Given the description of an element on the screen output the (x, y) to click on. 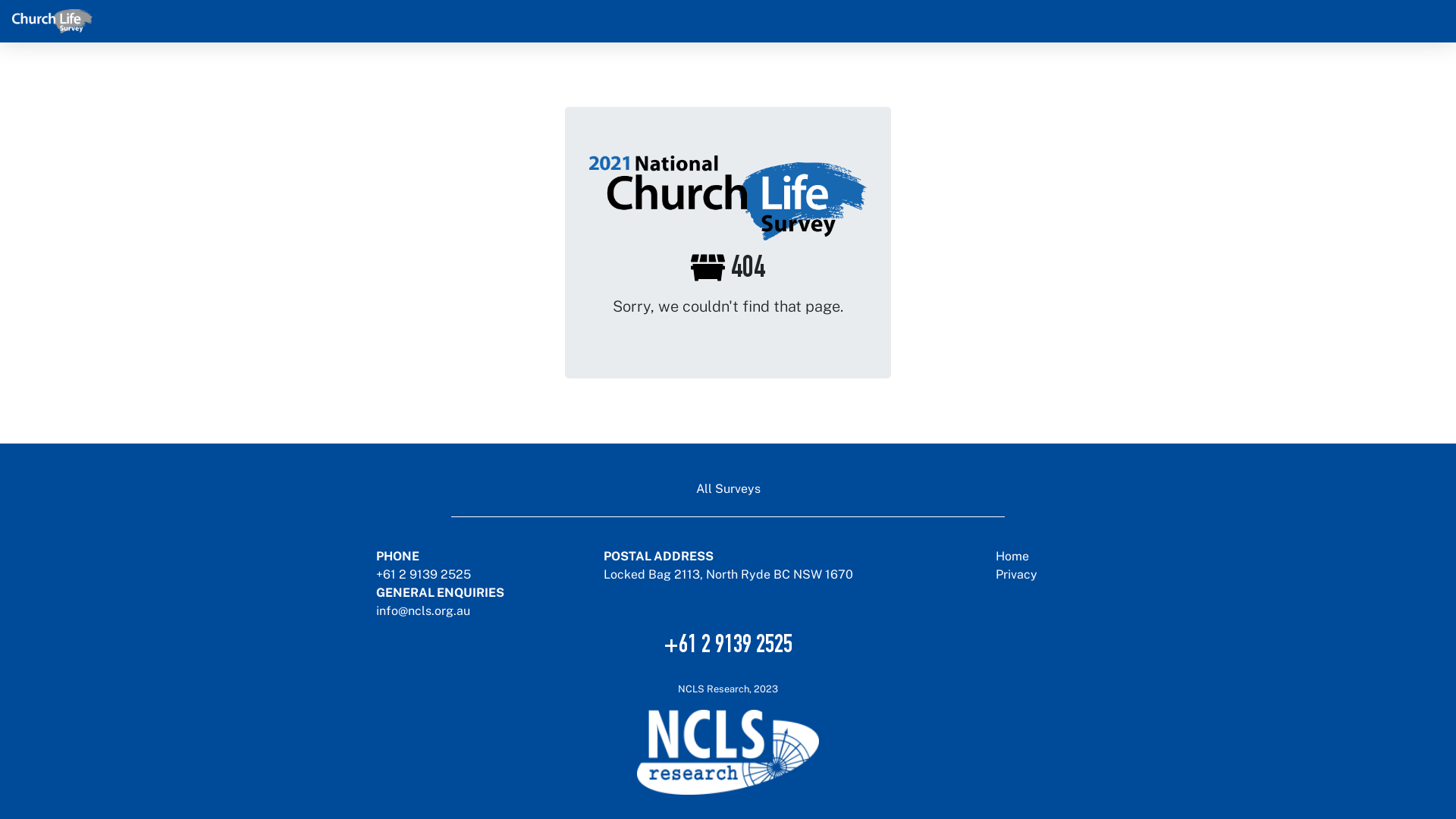
info@ncls.org.au Element type: text (423, 610)
All Surveys Element type: text (728, 489)
+61 2 9139 2525 Element type: text (728, 646)
Privacy Element type: text (1015, 574)
+61 2 9139 2525 Element type: text (423, 574)
Home Element type: text (1011, 556)
